Given the description of an element on the screen output the (x, y) to click on. 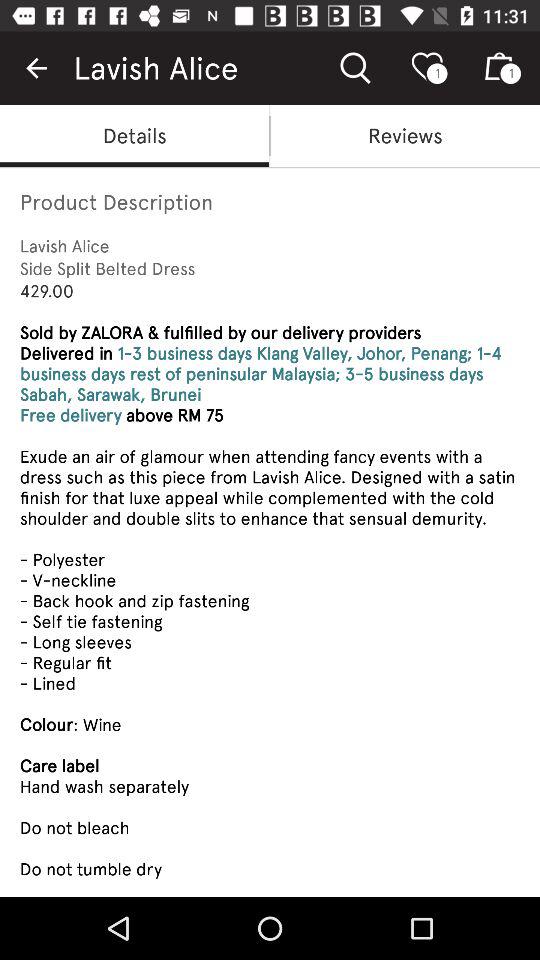
launch the item next to lavish alice item (36, 68)
